Given the description of an element on the screen output the (x, y) to click on. 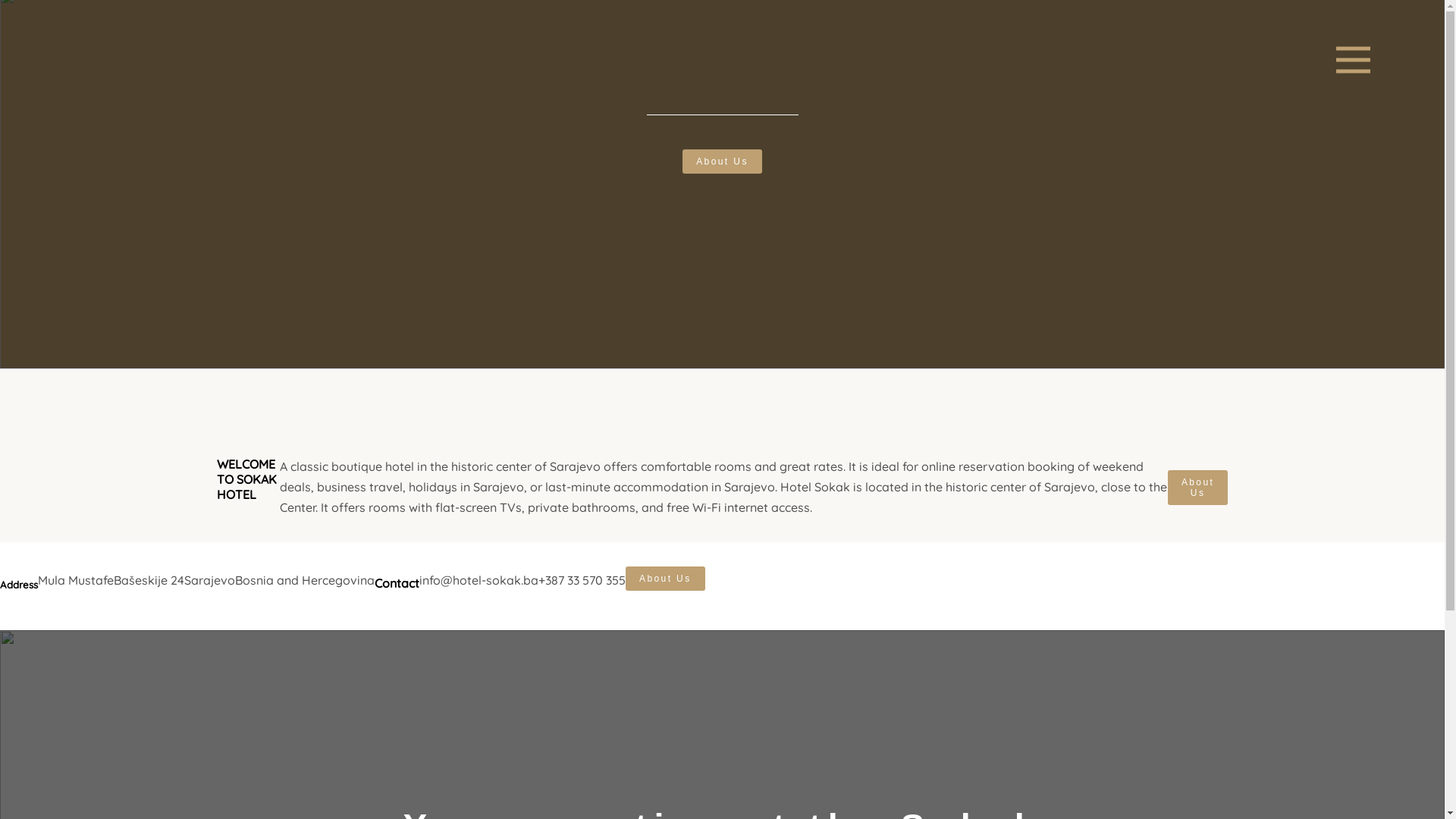
About Us Element type: text (1197, 487)
About Us Element type: text (665, 578)
About Us Element type: text (722, 161)
